Given the description of an element on the screen output the (x, y) to click on. 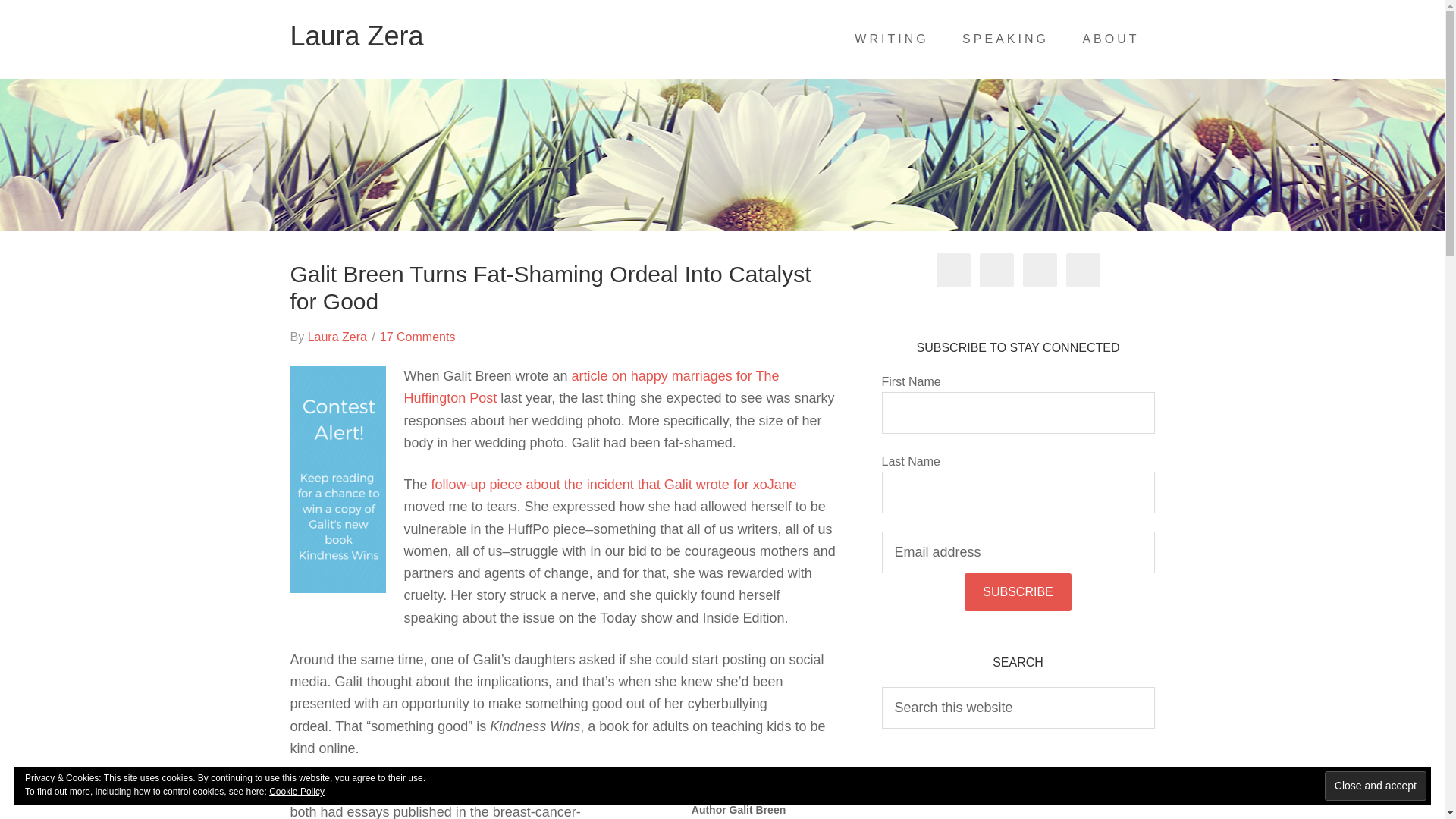
Cookie Policy (296, 791)
Galit Breen Turns Fat-Shaming Ordeal Into Catalyst for Good (549, 287)
Laura Zera (356, 35)
Close and accept (1375, 785)
SPEAKING (1005, 39)
17 Comments (417, 336)
Subscribe (1016, 591)
Laura Zera (336, 336)
12 Secrets Happily Married Women Know (590, 386)
Subscribe (1016, 591)
